Given the description of an element on the screen output the (x, y) to click on. 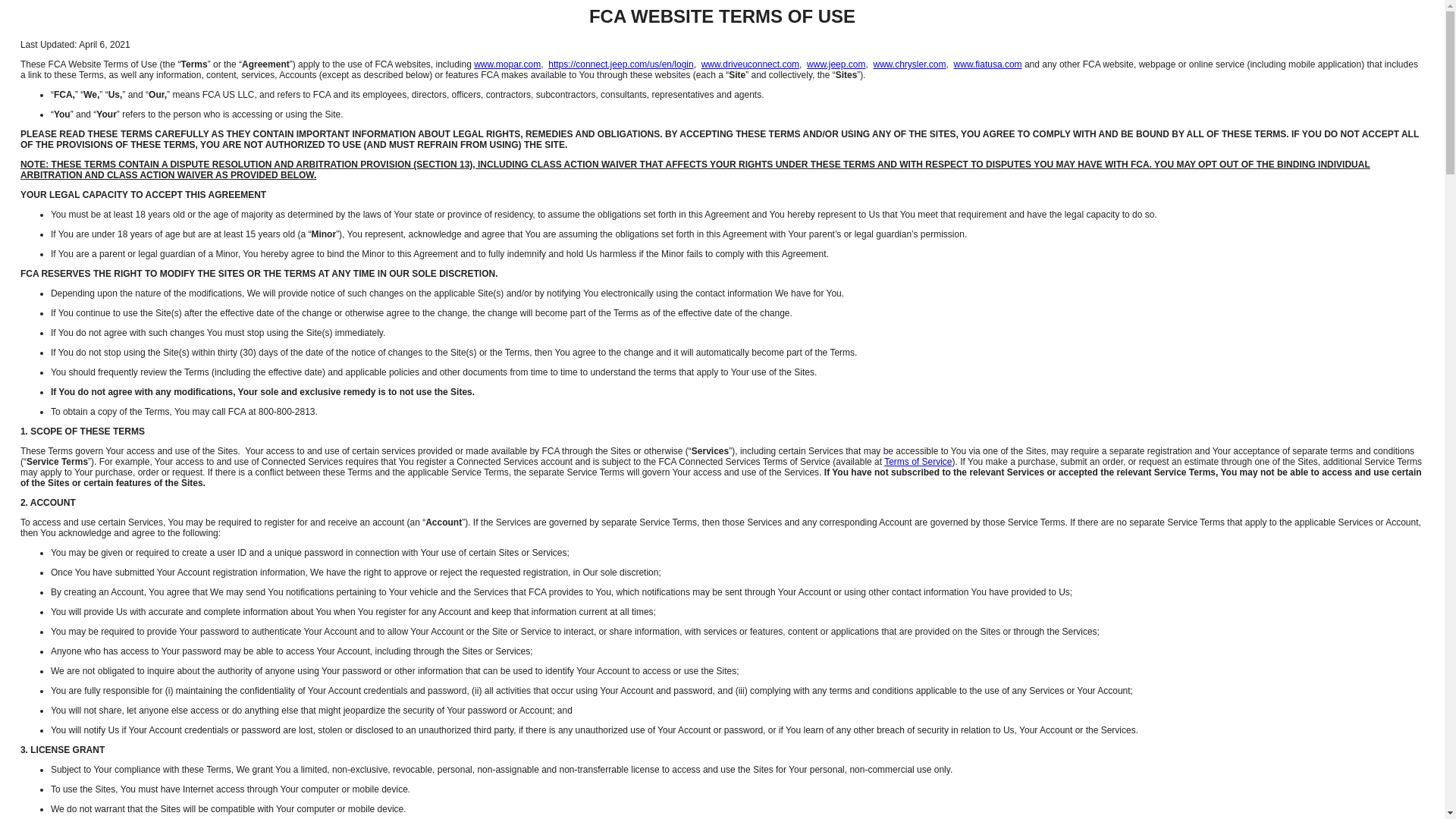
www.mopar.com (507, 63)
www.jeep.com (835, 63)
www.chrysler.com (909, 63)
www.fiatusa.com (987, 63)
Terms of Service (917, 461)
www.driveuconnect.com (750, 63)
